Given the description of an element on the screen output the (x, y) to click on. 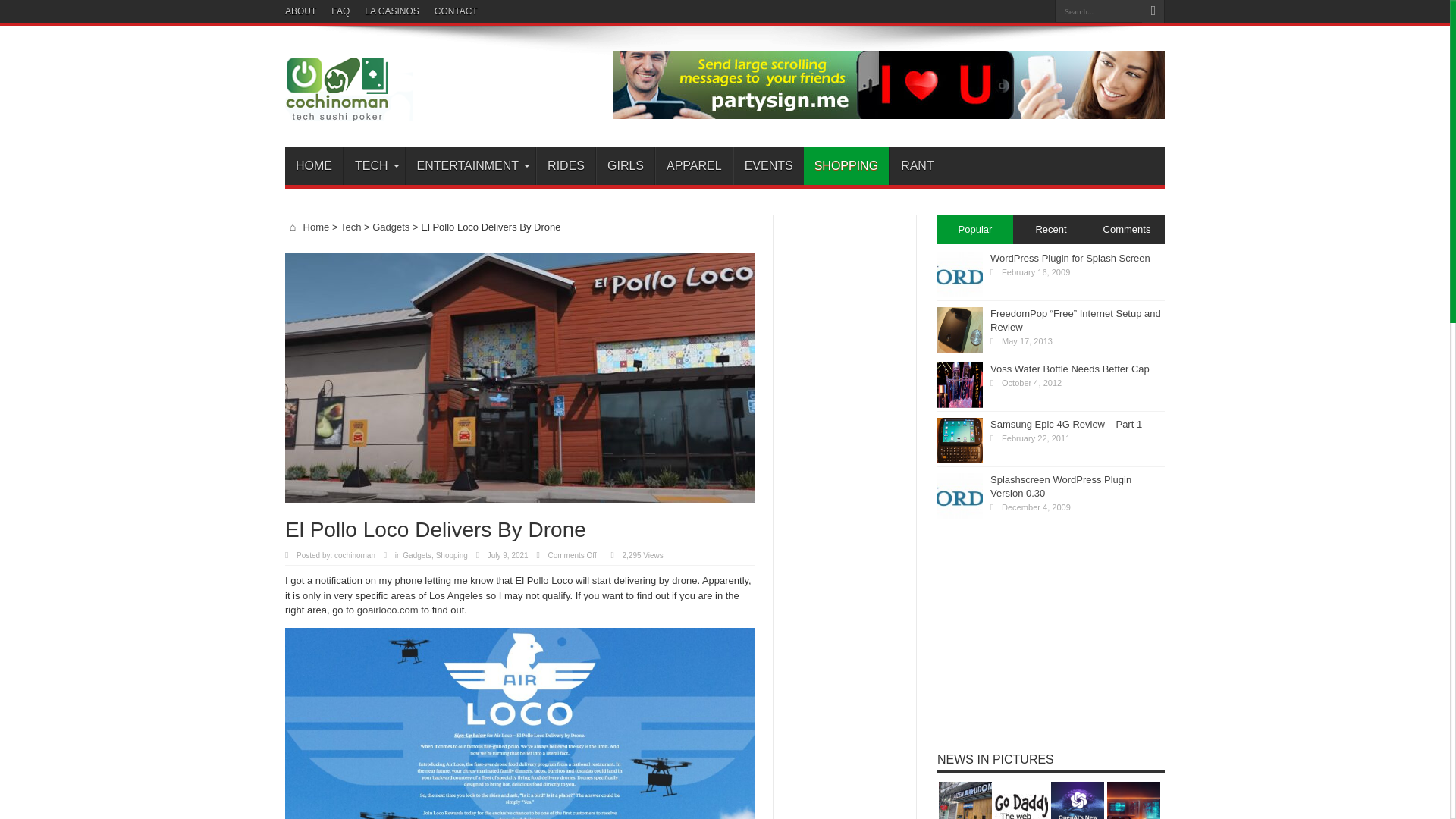
cochinoman (354, 555)
Permalink to WordPress Plugin for Splash Screen (959, 293)
ENTERTAINMENT (470, 166)
APPAREL (693, 166)
Tech (350, 226)
Gadgets (416, 555)
HOME (313, 166)
Send large scrolling messages to your friends for free! (888, 115)
RANT (916, 166)
CONTACT (455, 11)
Shopping (451, 555)
LA CASINOS (392, 11)
Search... (1097, 11)
TECH (373, 166)
Search (1152, 11)
